Given the description of an element on the screen output the (x, y) to click on. 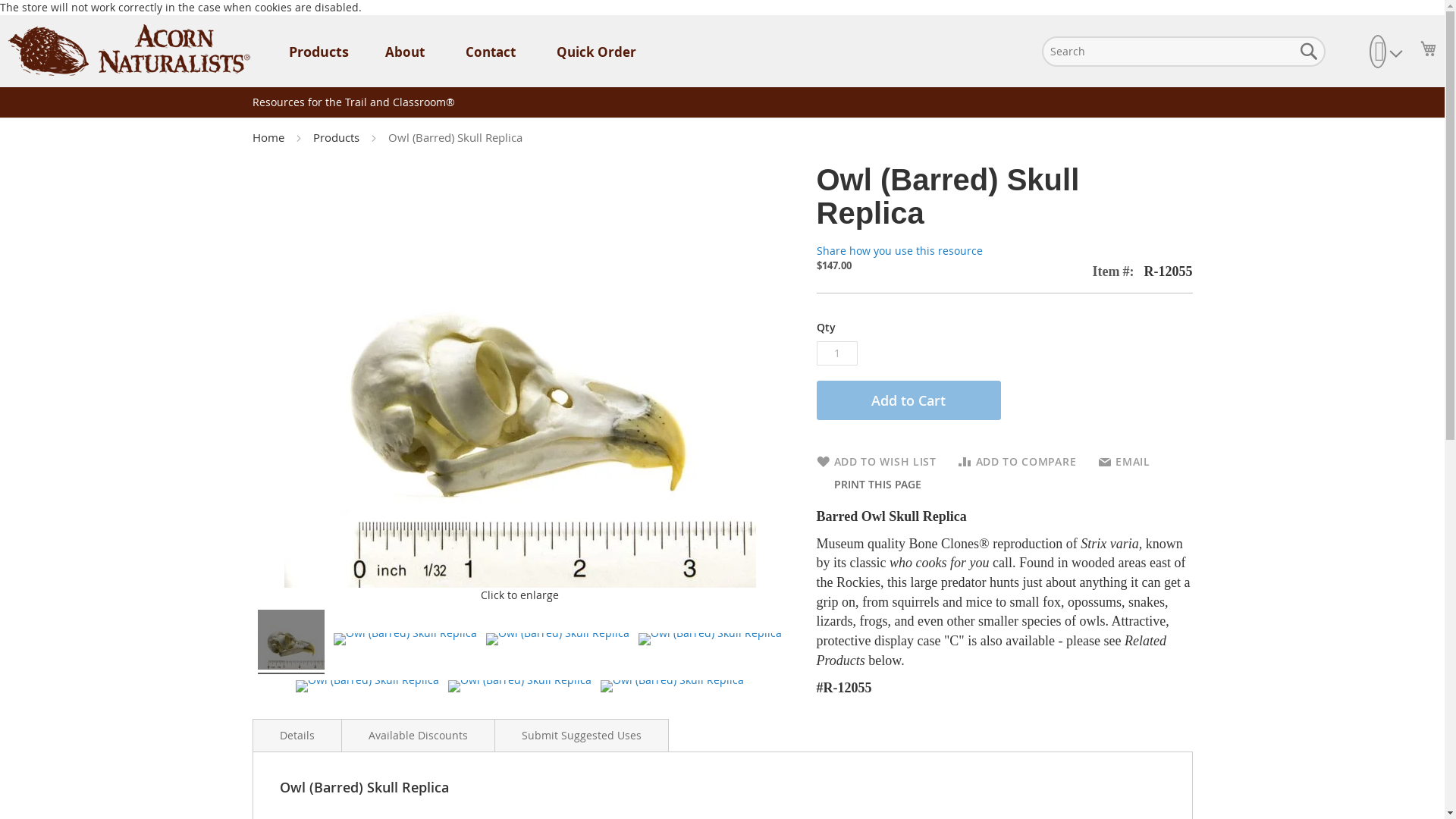
Go to Home Page (268, 136)
EMAIL (1123, 461)
Share how you use this resource (898, 250)
1 (836, 353)
ADD TO WISH LIST (875, 461)
Add to Cart (907, 400)
Quick Order (595, 51)
Add to Cart (907, 400)
Qty (836, 353)
Contact (490, 51)
  PRINT THIS PAGE (874, 483)
Available Discounts (417, 735)
ADD TO COMPARE (1017, 461)
Home (268, 136)
